Given the description of an element on the screen output the (x, y) to click on. 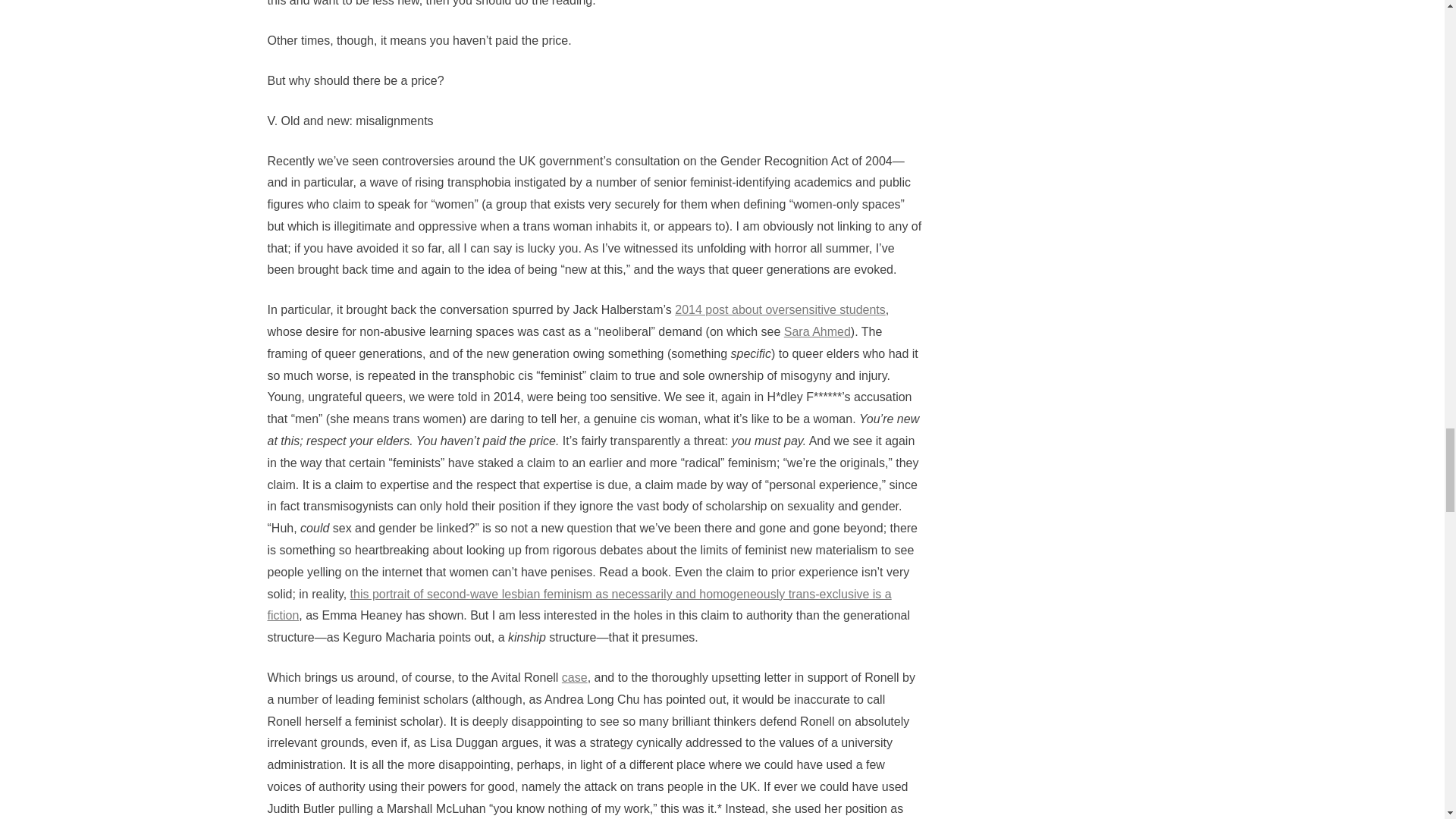
2014 post about oversensitive students (780, 309)
Sara Ahmed (817, 331)
case (575, 676)
